Given the description of an element on the screen output the (x, y) to click on. 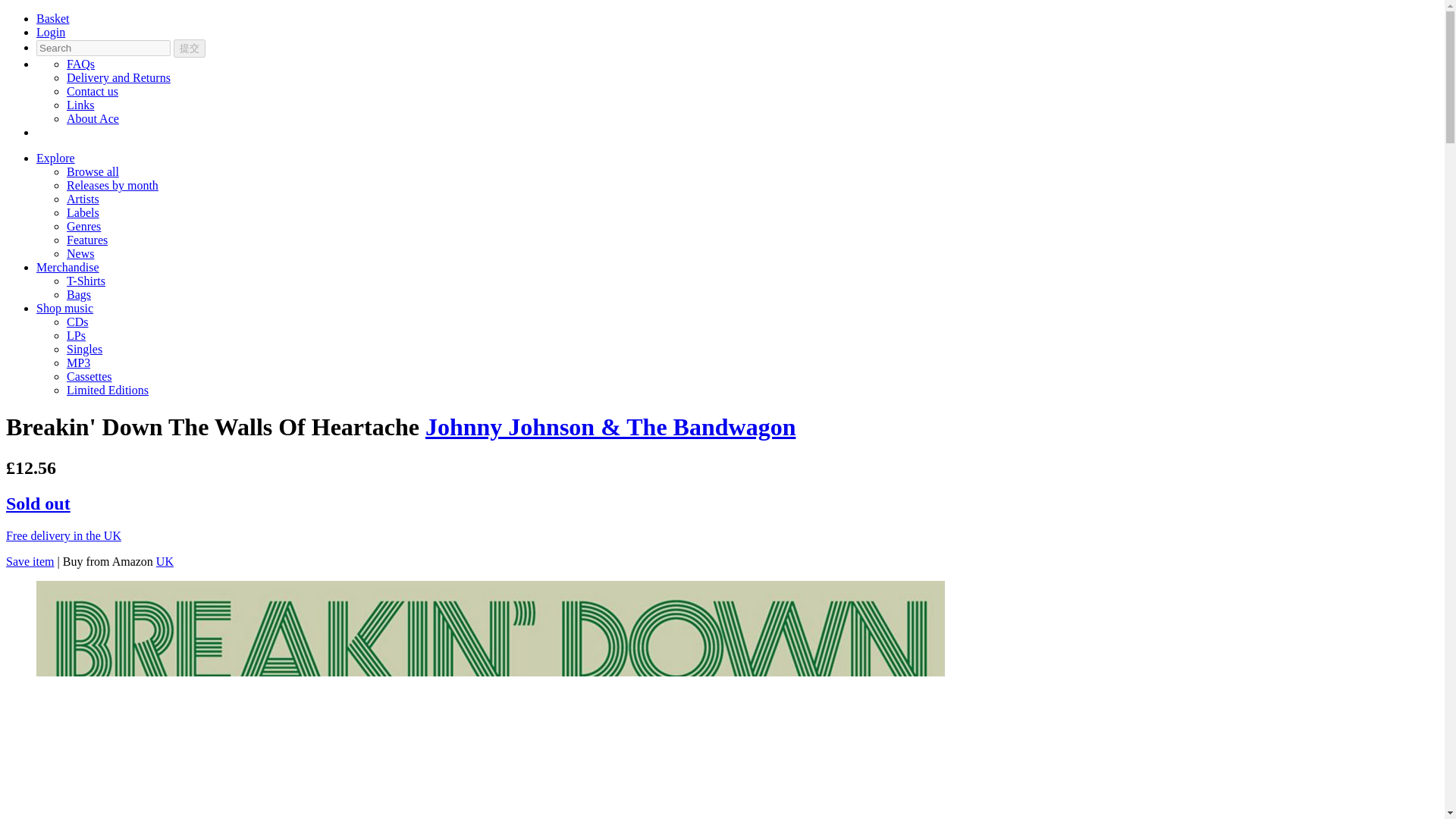
Artists (82, 198)
LPs (75, 335)
Merchandise (67, 267)
Singles (83, 349)
Labels (82, 212)
Bags (78, 294)
Contact us (91, 91)
T-Shirts (85, 280)
Limited Editions (107, 390)
Basket (52, 18)
Genres (83, 226)
About Ace (92, 118)
Releases by month (112, 185)
Links (80, 104)
MP3 (78, 362)
